Given the description of an element on the screen output the (x, y) to click on. 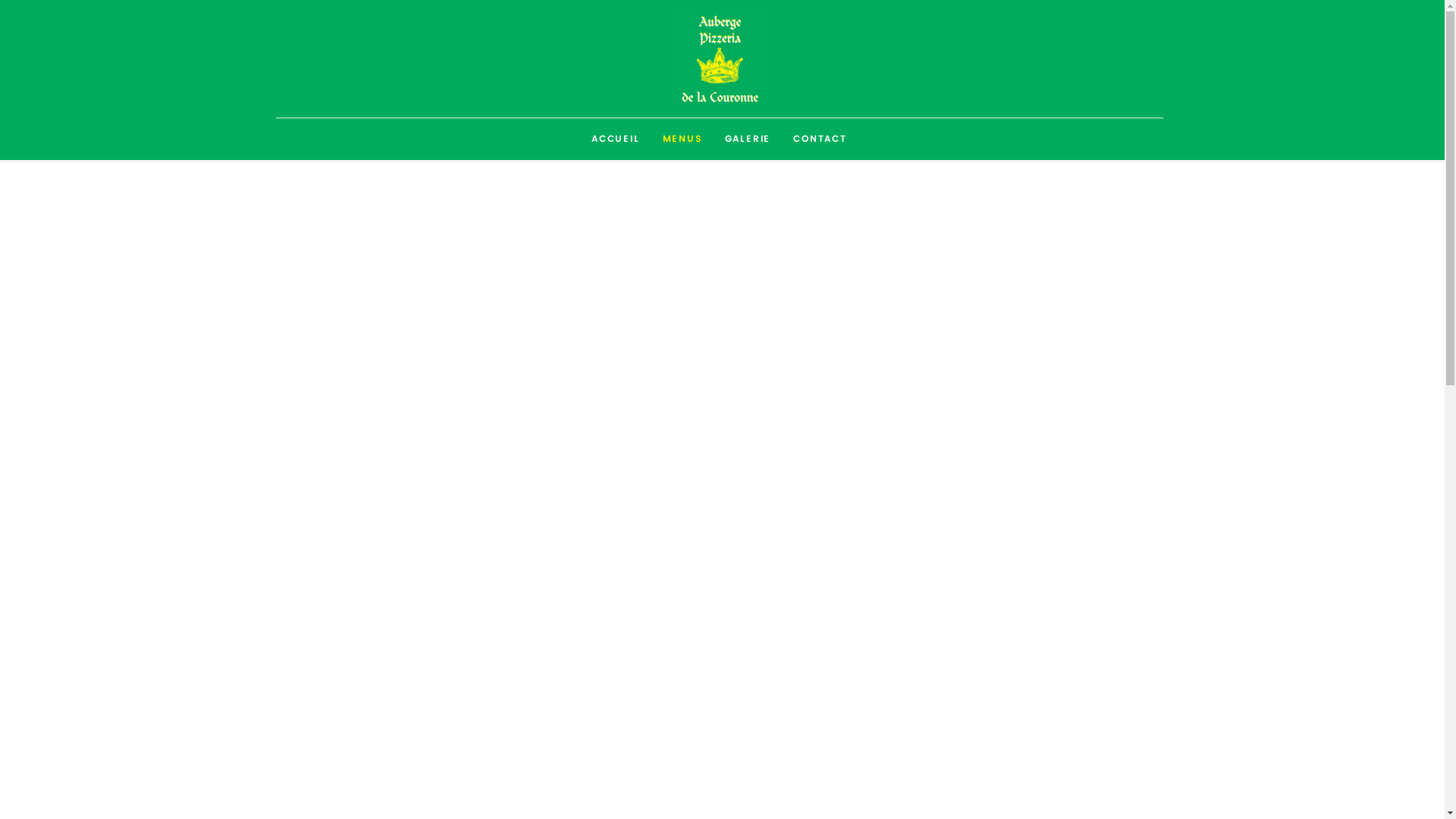
CONTACT Element type: text (819, 139)
MENUS Element type: text (682, 139)
GALERIE Element type: text (747, 139)
ACCUEIL Element type: text (615, 139)
